Given the description of an element on the screen output the (x, y) to click on. 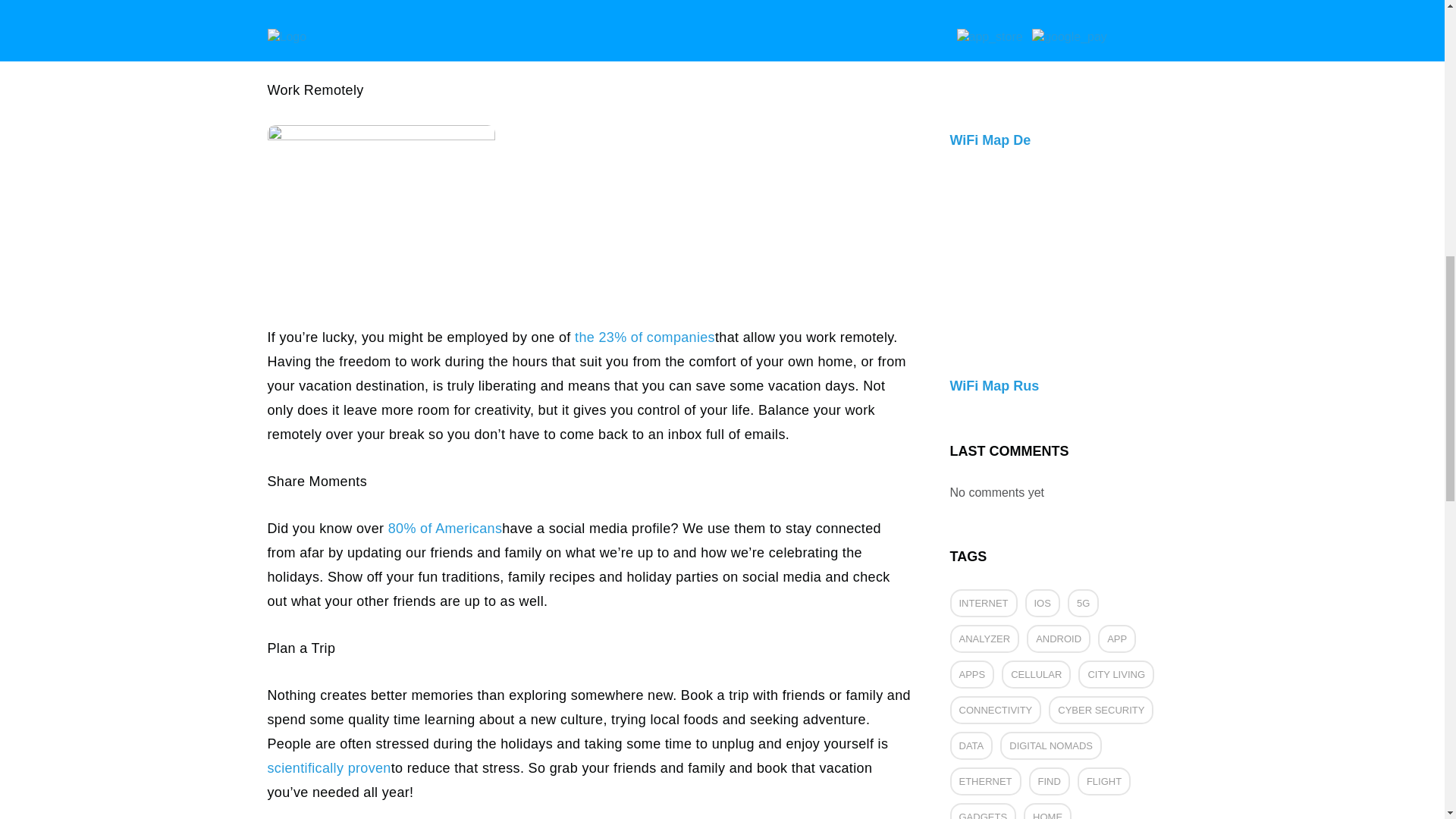
ANDROID (1058, 638)
HOME (1047, 811)
cyber security (1100, 709)
WiFi Map Rus (1062, 326)
CONNECTIVITY (995, 709)
CELLULAR (1035, 674)
city living (1116, 674)
IOS (1042, 602)
WiFi Map De (1062, 80)
5G (1083, 602)
cellular (1035, 674)
ios (1042, 602)
scientifically proven (328, 767)
data (970, 746)
internet (982, 602)
